Given the description of an element on the screen output the (x, y) to click on. 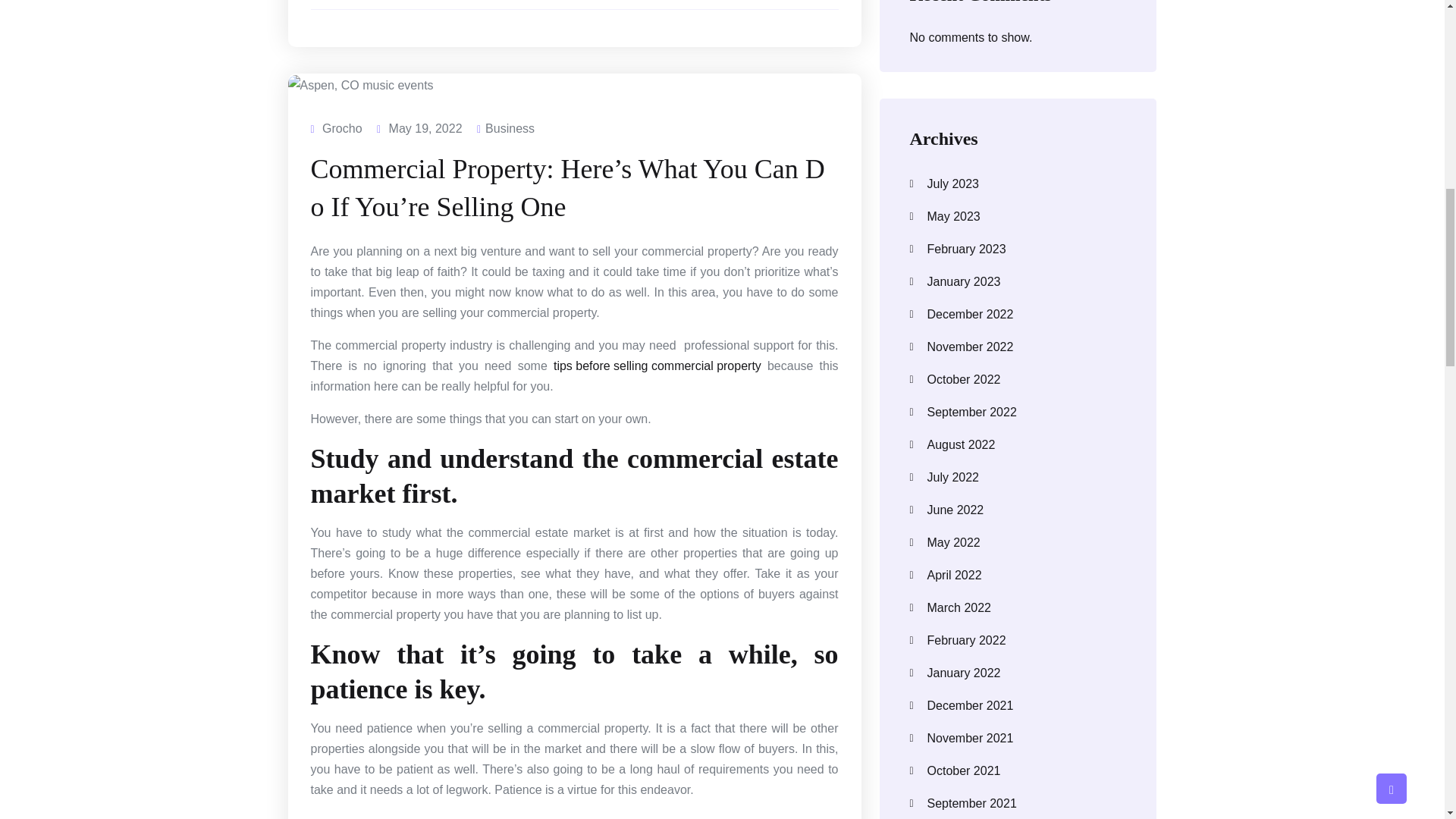
November 2022 (1018, 346)
January 2023 (1018, 282)
February 2023 (1018, 249)
May 2023 (1018, 216)
December 2022 (1018, 314)
tips before selling commercial property (657, 365)
July 2023 (1018, 183)
May 19, 2022 (425, 127)
Business (509, 127)
